Given the description of an element on the screen output the (x, y) to click on. 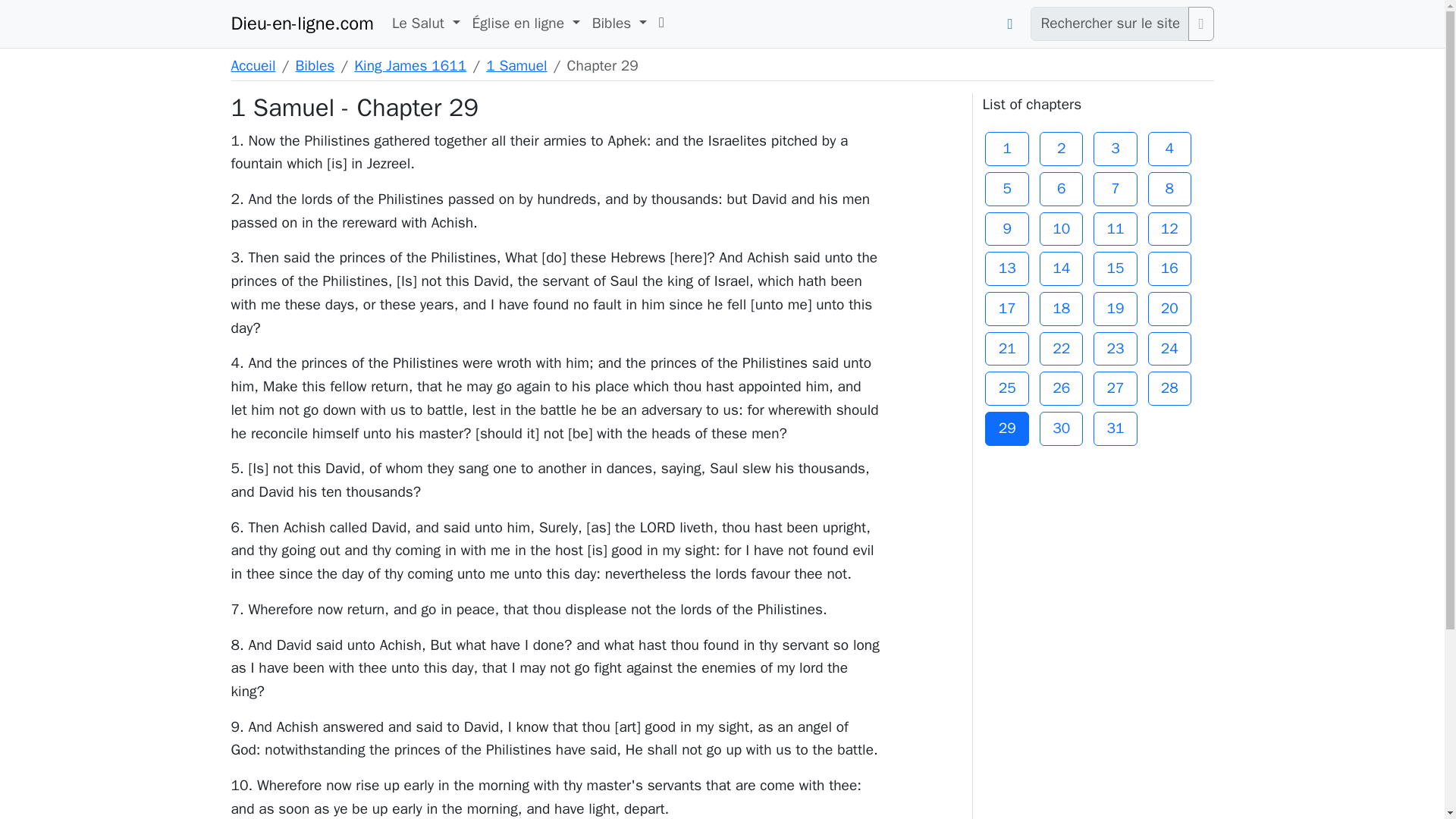
7 (1115, 188)
1 Samuel (516, 65)
5 (1007, 188)
1 (1007, 148)
9 (1007, 229)
10 (1061, 229)
King James 1611 (409, 65)
12 (1170, 229)
Bibles (314, 65)
11 (1115, 229)
Bibles (619, 23)
6 (1061, 188)
Dieu-en-ligne.com (301, 23)
8 (1170, 188)
3 (1115, 148)
